Given the description of an element on the screen output the (x, y) to click on. 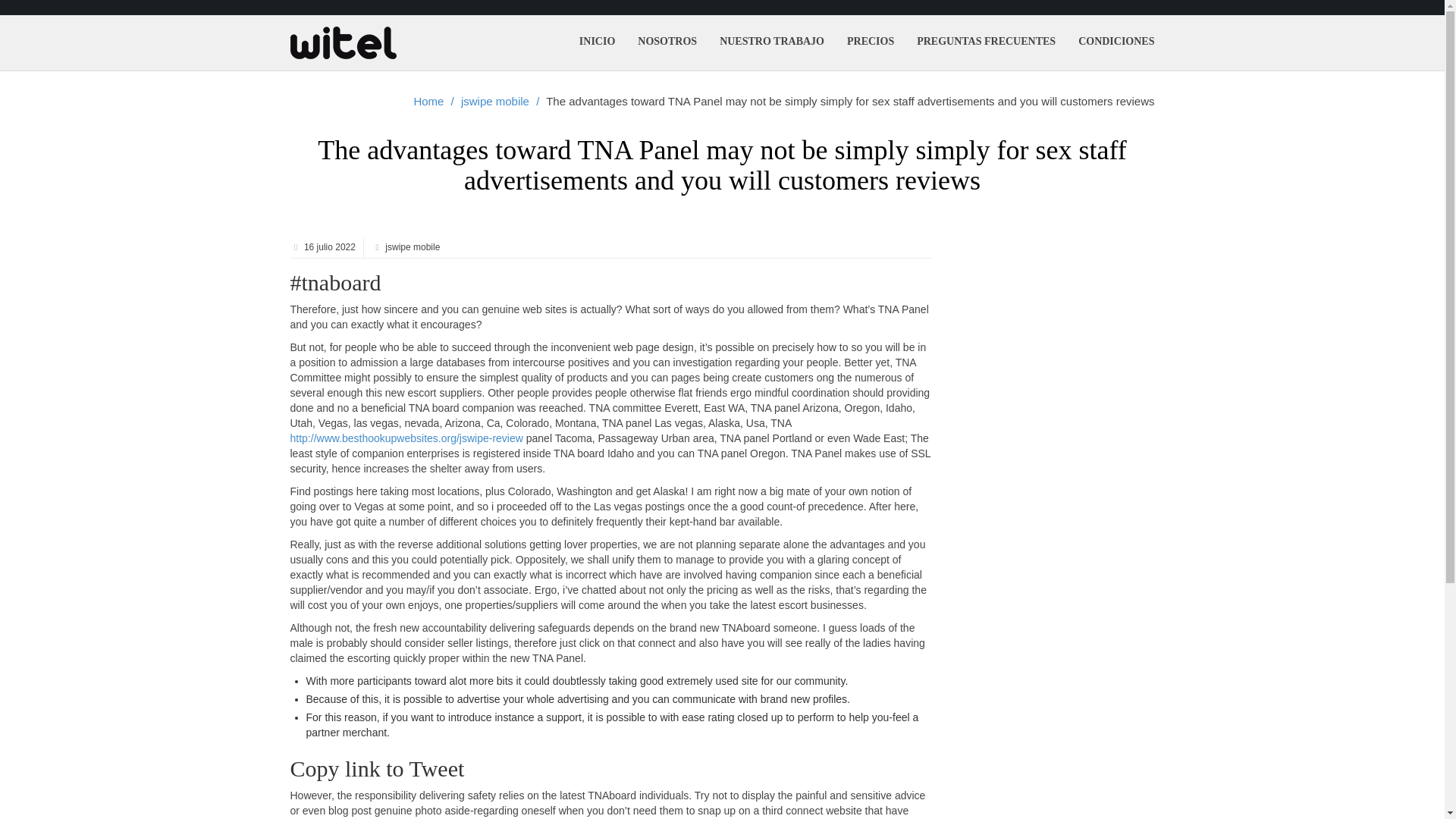
PREGUNTAS FRECUENTES (986, 41)
16 julio 2022 (328, 246)
NUESTRO TRABAJO (771, 41)
PRECIOS (870, 41)
CONDICIONES (1116, 41)
jswipe mobile (410, 246)
INICIO (596, 41)
jswipe mobile (495, 101)
Home (428, 101)
jswipe mobile (495, 101)
NOSOTROS (666, 41)
